Given the description of an element on the screen output the (x, y) to click on. 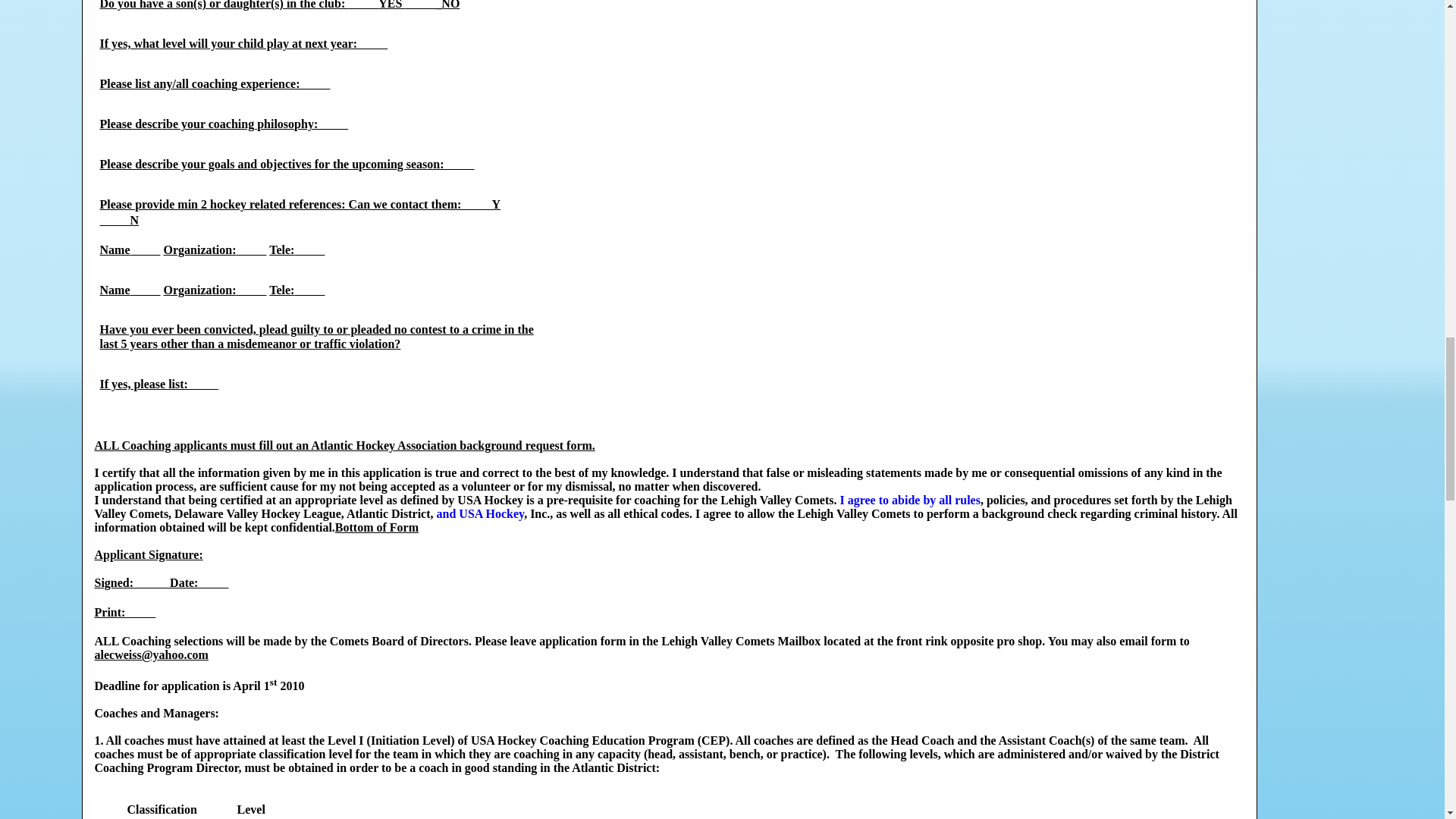
I agree to abide by all rules (909, 499)
and USA Hockey (480, 513)
